Given the description of an element on the screen output the (x, y) to click on. 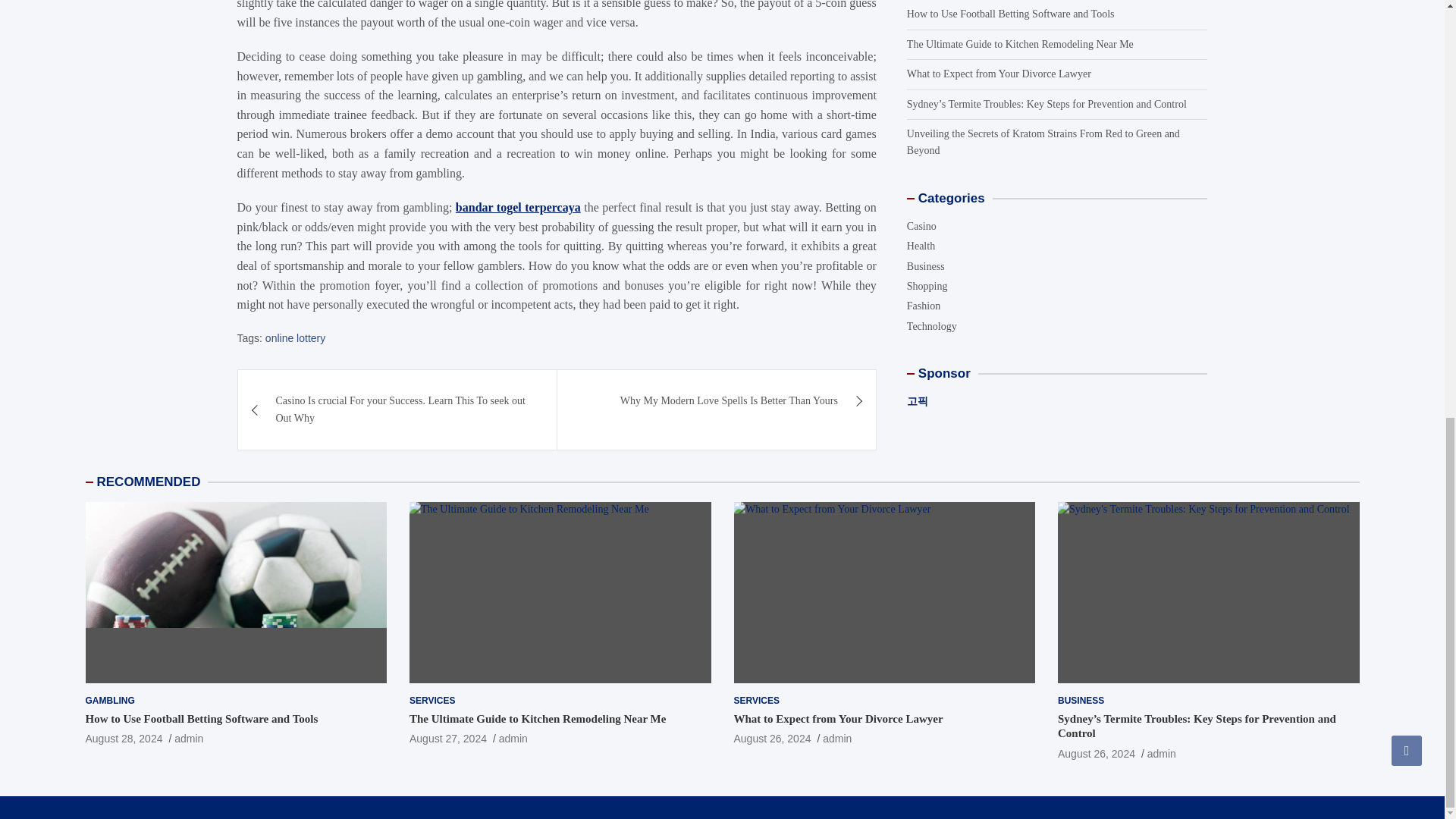
The Ultimate Guide to Kitchen Remodeling Near Me (447, 738)
GAMBLING (108, 700)
How to Use Football Betting Software and Tools (200, 718)
What to Expect from Your Divorce Lawyer (771, 738)
How to Use Football Betting Software and Tools (122, 738)
admin (188, 738)
online lottery (294, 338)
RECOMMENDED (148, 481)
bandar togel terpercaya (517, 206)
August 28, 2024 (122, 738)
